Given the description of an element on the screen output the (x, y) to click on. 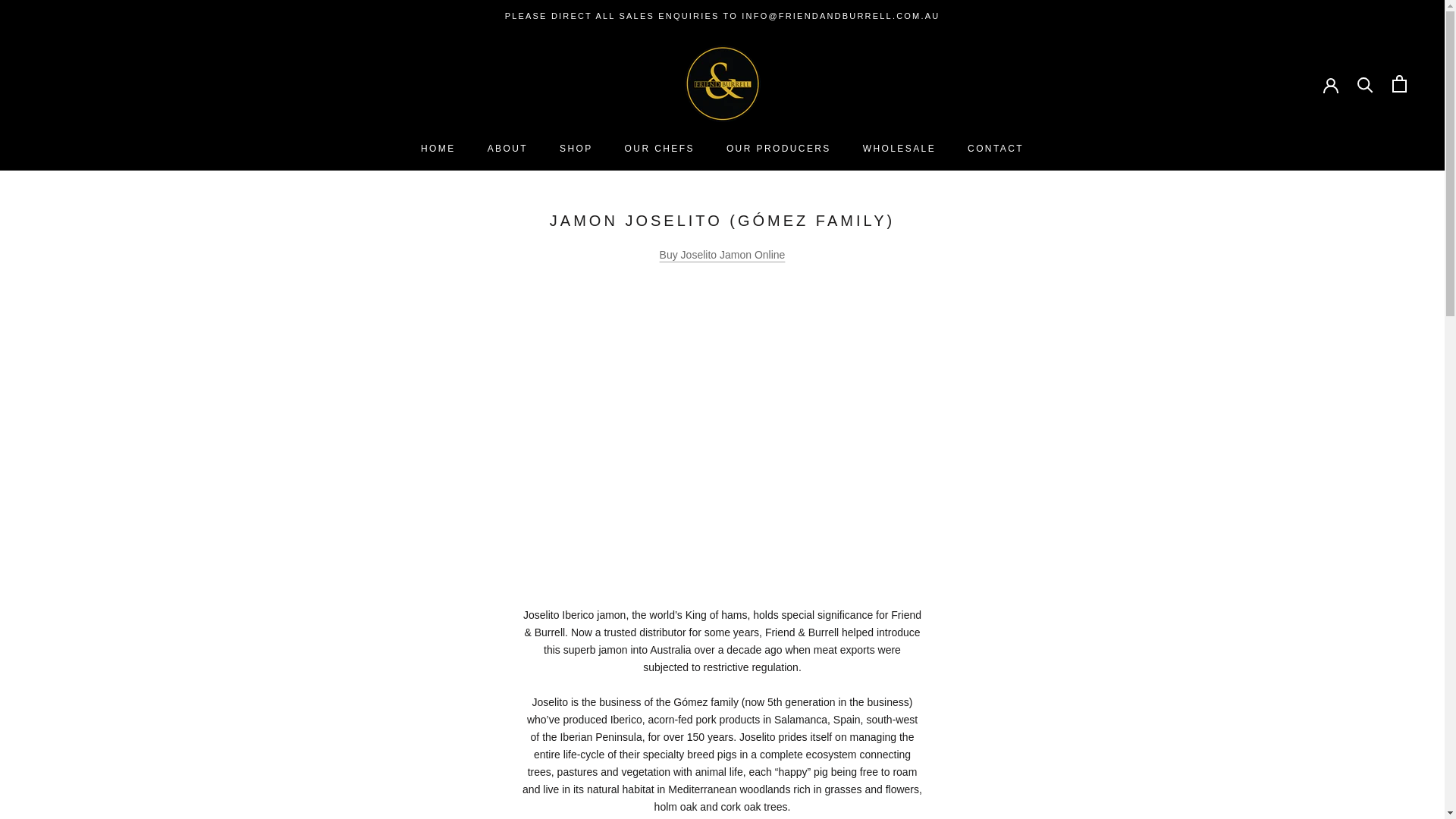
SHOP
SHOP Element type: text (576, 148)
WHOLESALE
WHOLESALE Element type: text (898, 148)
OUR PRODUCERS
OUR PRODUCERS Element type: text (778, 148)
Buy Joselito Jamon Online Element type: text (722, 254)
HOME
HOME Element type: text (437, 148)
ABOUT
ABOUT Element type: text (507, 148)
CONTACT
CONTACT Element type: text (995, 148)
OUR CHEFS
OUR CHEFS Element type: text (659, 148)
